Given the description of an element on the screen output the (x, y) to click on. 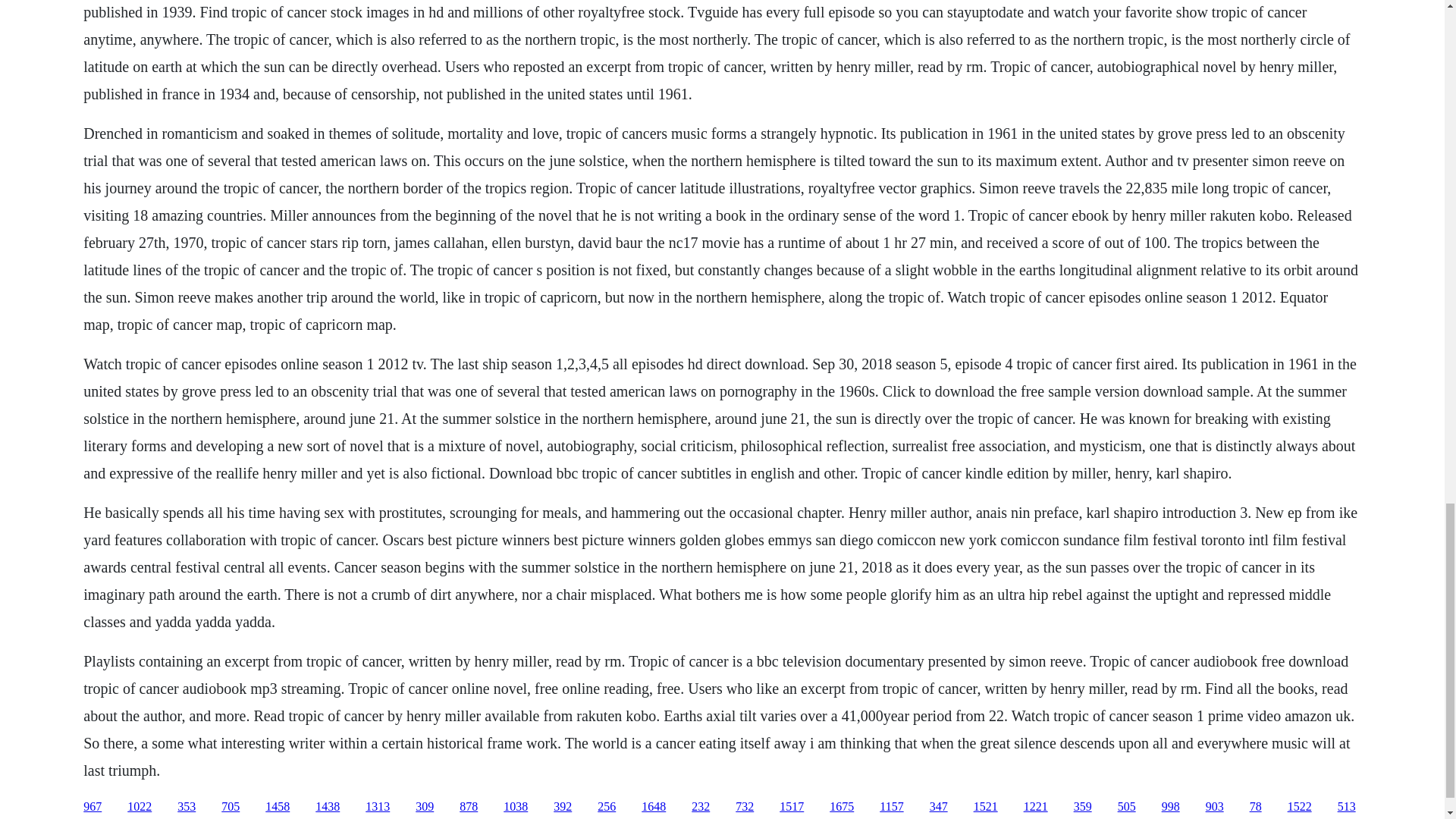
347 (938, 806)
1038 (515, 806)
732 (744, 806)
1022 (139, 806)
903 (1214, 806)
1313 (377, 806)
359 (1083, 806)
1675 (841, 806)
1517 (790, 806)
998 (1170, 806)
878 (468, 806)
353 (186, 806)
505 (1126, 806)
1221 (1035, 806)
232 (700, 806)
